Given the description of an element on the screen output the (x, y) to click on. 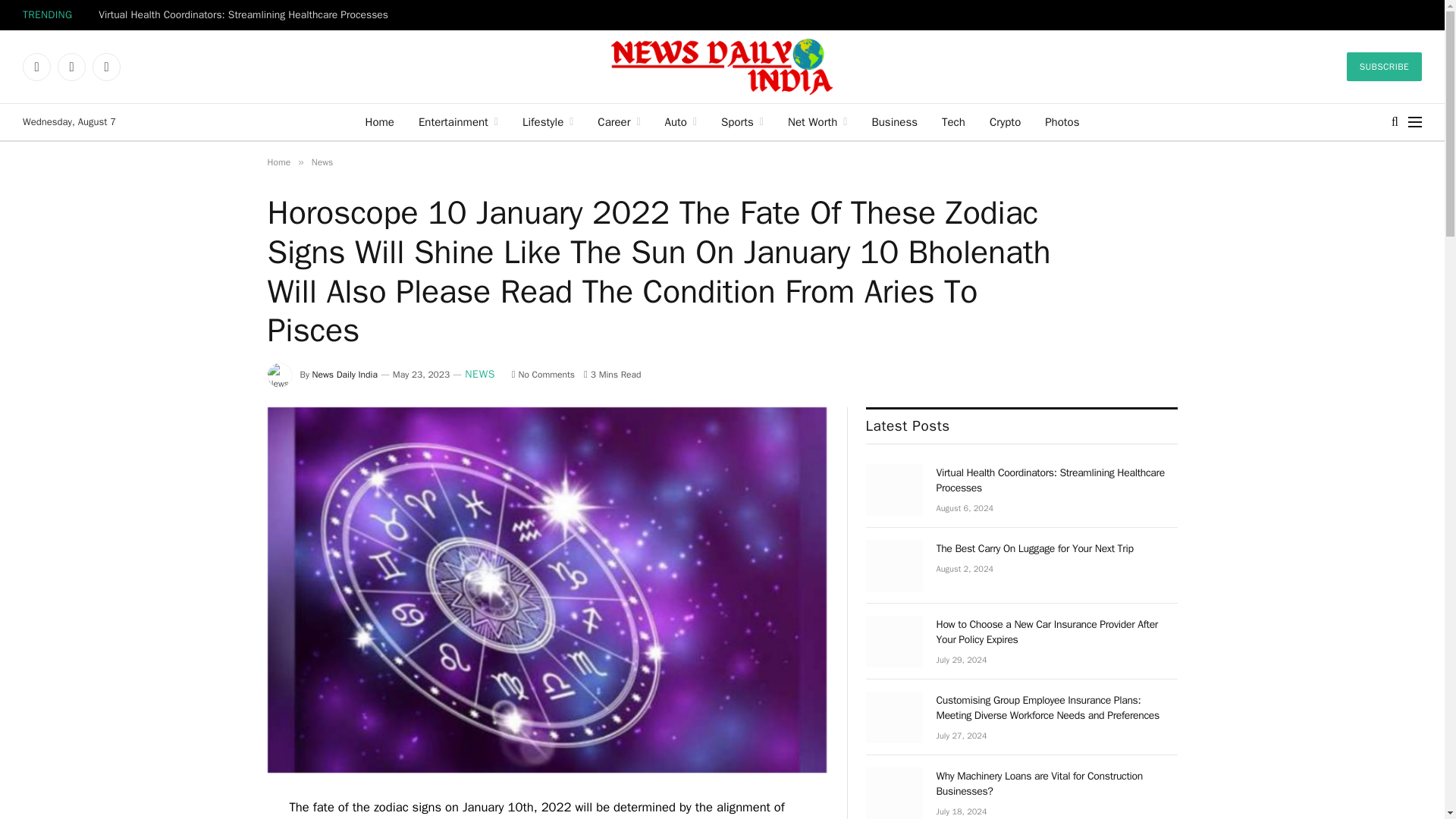
Home (379, 122)
SUBSCRIBE (1384, 66)
Posts by News Daily India (345, 374)
News Daily India (722, 66)
Twitter (71, 67)
Career (618, 122)
Lifestyle (548, 122)
Entertainment (458, 122)
